Given the description of an element on the screen output the (x, y) to click on. 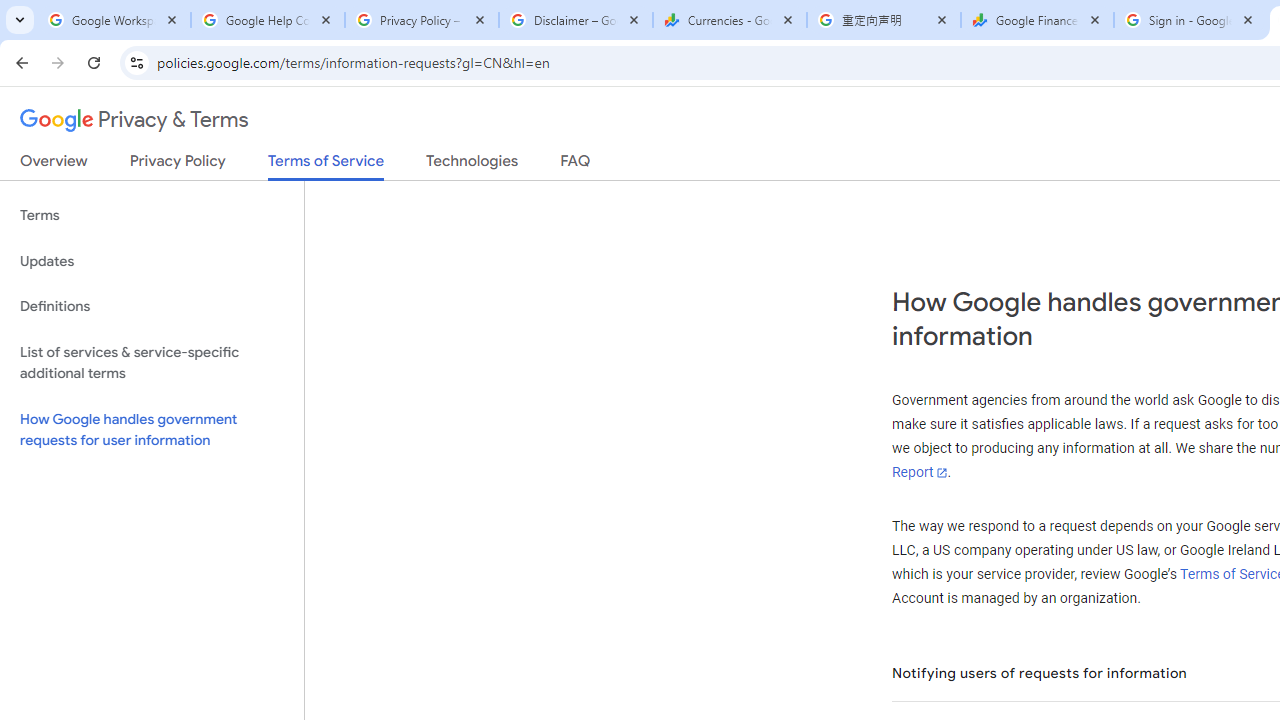
Google Workspace Admin Community (113, 20)
Sign in - Google Accounts (1190, 20)
Currencies - Google Finance (729, 20)
